Given the description of an element on the screen output the (x, y) to click on. 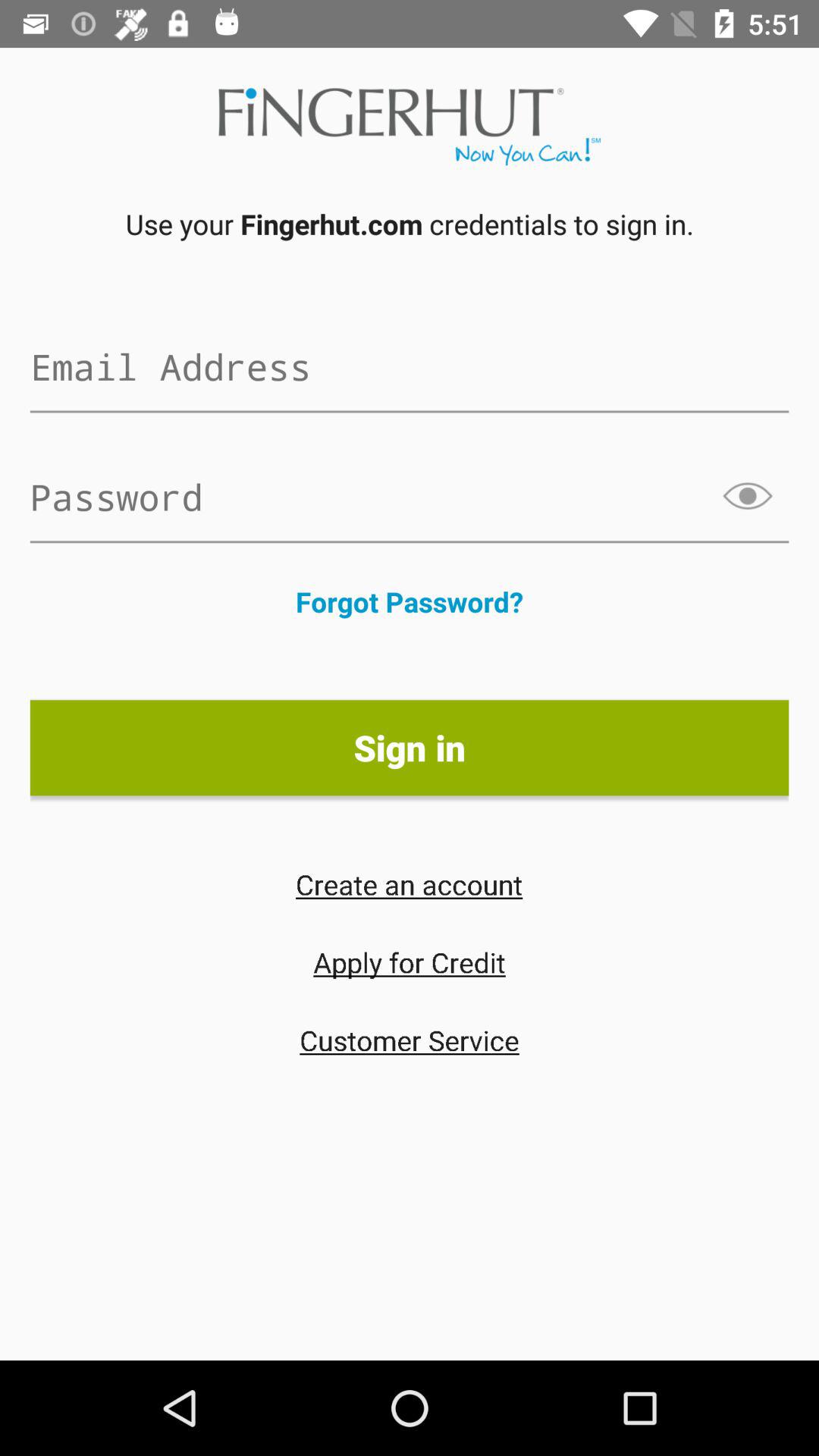
click the customer service icon (409, 1040)
